Given the description of an element on the screen output the (x, y) to click on. 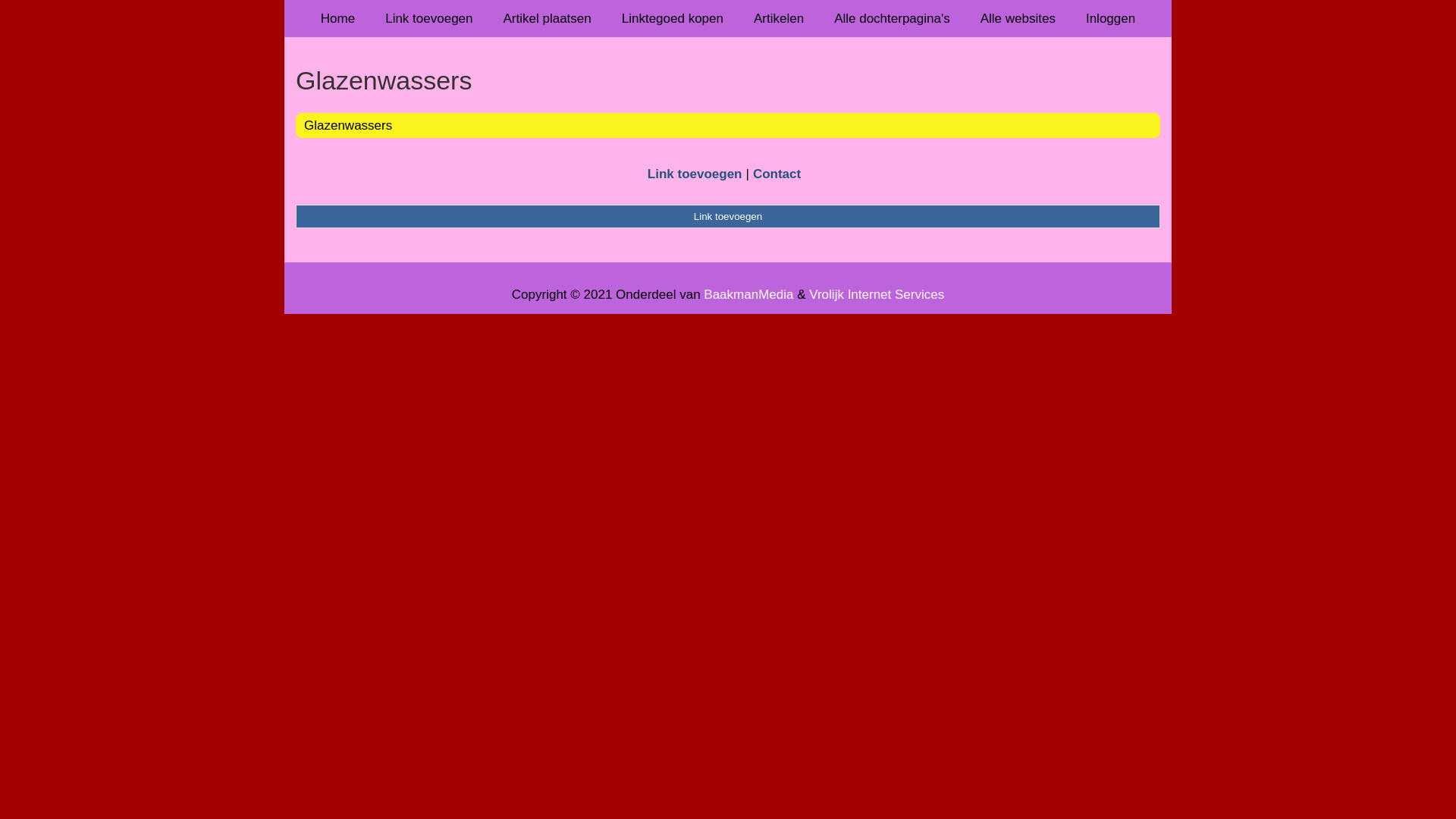
Artikel plaatsen Element type: text (547, 18)
Link toevoegen Element type: text (694, 173)
Linktegoed kopen Element type: text (672, 18)
Home Element type: text (337, 18)
Vrolijk Internet Services Element type: text (876, 294)
Contact Element type: text (776, 173)
Artikelen Element type: text (778, 18)
Alle dochterpagina's Element type: text (892, 18)
Link toevoegen Element type: text (428, 18)
Inloggen Element type: text (1110, 18)
Glazenwassers Element type: text (348, 125)
Link toevoegen Element type: text (727, 215)
BaakmanMedia Element type: text (748, 294)
Alle websites Element type: text (1017, 18)
Glazenwassers Element type: text (727, 80)
